Given the description of an element on the screen output the (x, y) to click on. 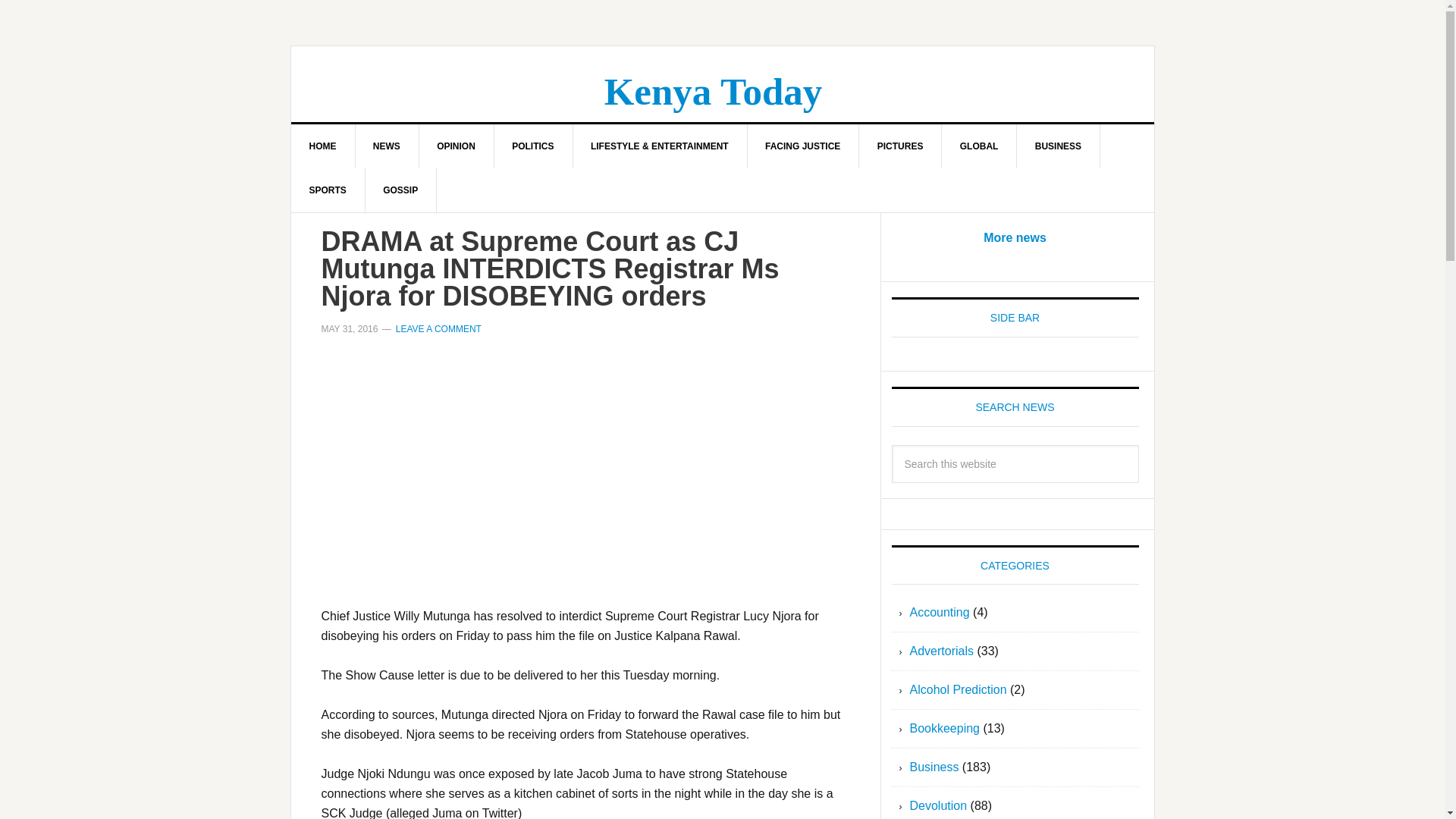
Advertorials (942, 650)
BUSINESS (1058, 146)
Accounting (939, 612)
HOME (323, 146)
POLITICS (532, 146)
GOSSIP (400, 190)
Devolution (939, 805)
Bookkeeping (944, 727)
